Given the description of an element on the screen output the (x, y) to click on. 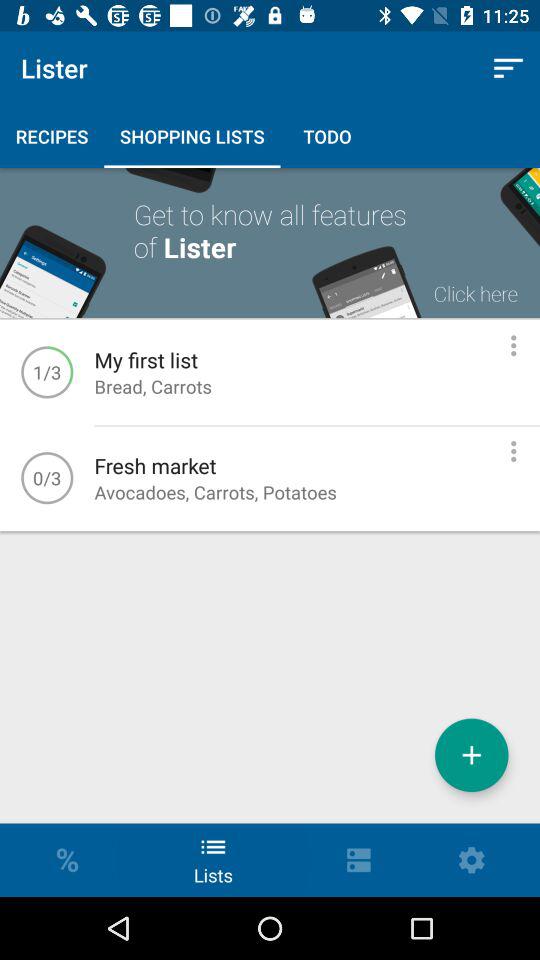
settings button (513, 451)
